Given the description of an element on the screen output the (x, y) to click on. 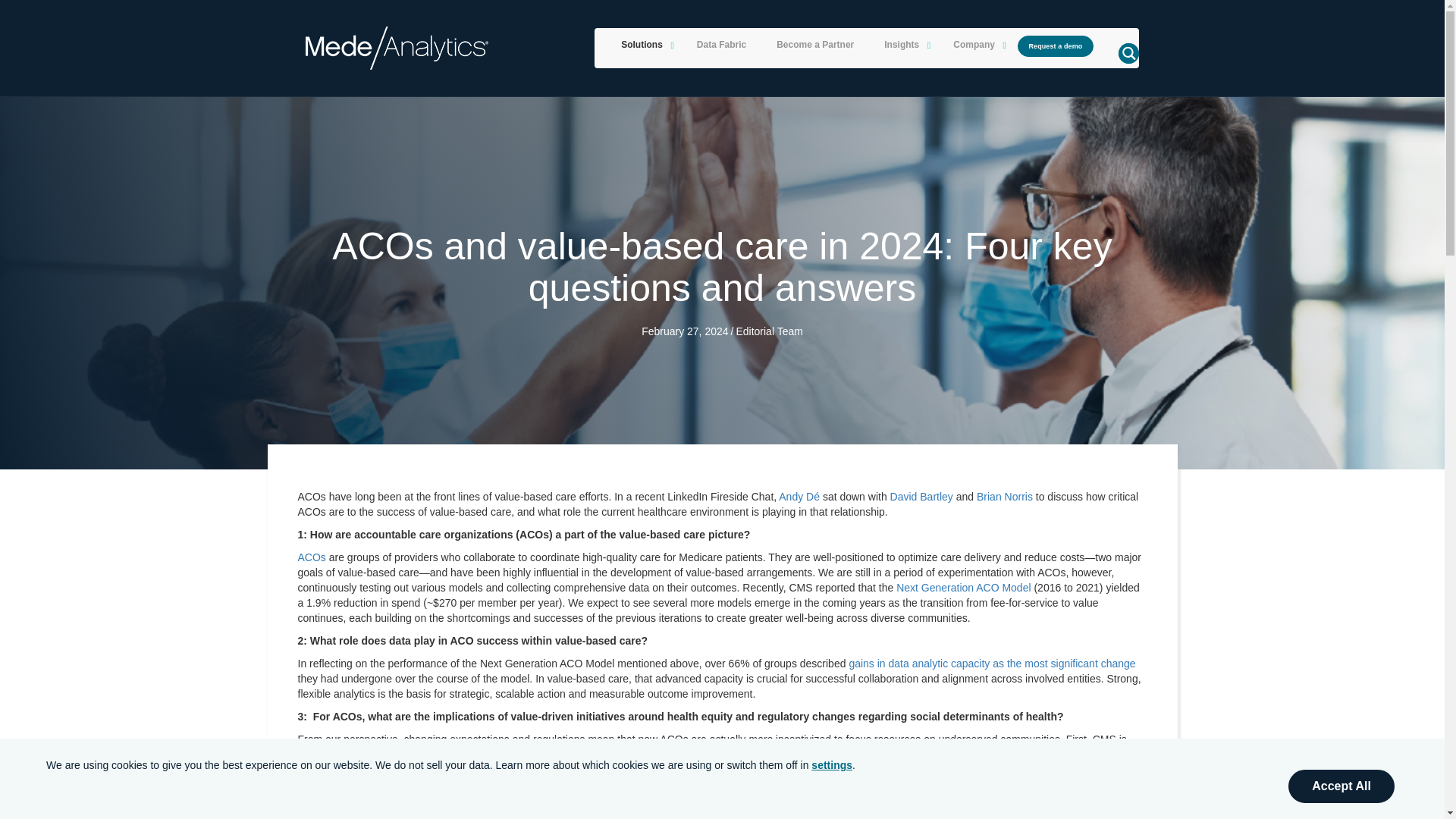
Insights (903, 45)
Click Here (1055, 46)
Data Fabric (721, 45)
Social-logo-facebook (319, 715)
Become a Partner (815, 45)
